Given the description of an element on the screen output the (x, y) to click on. 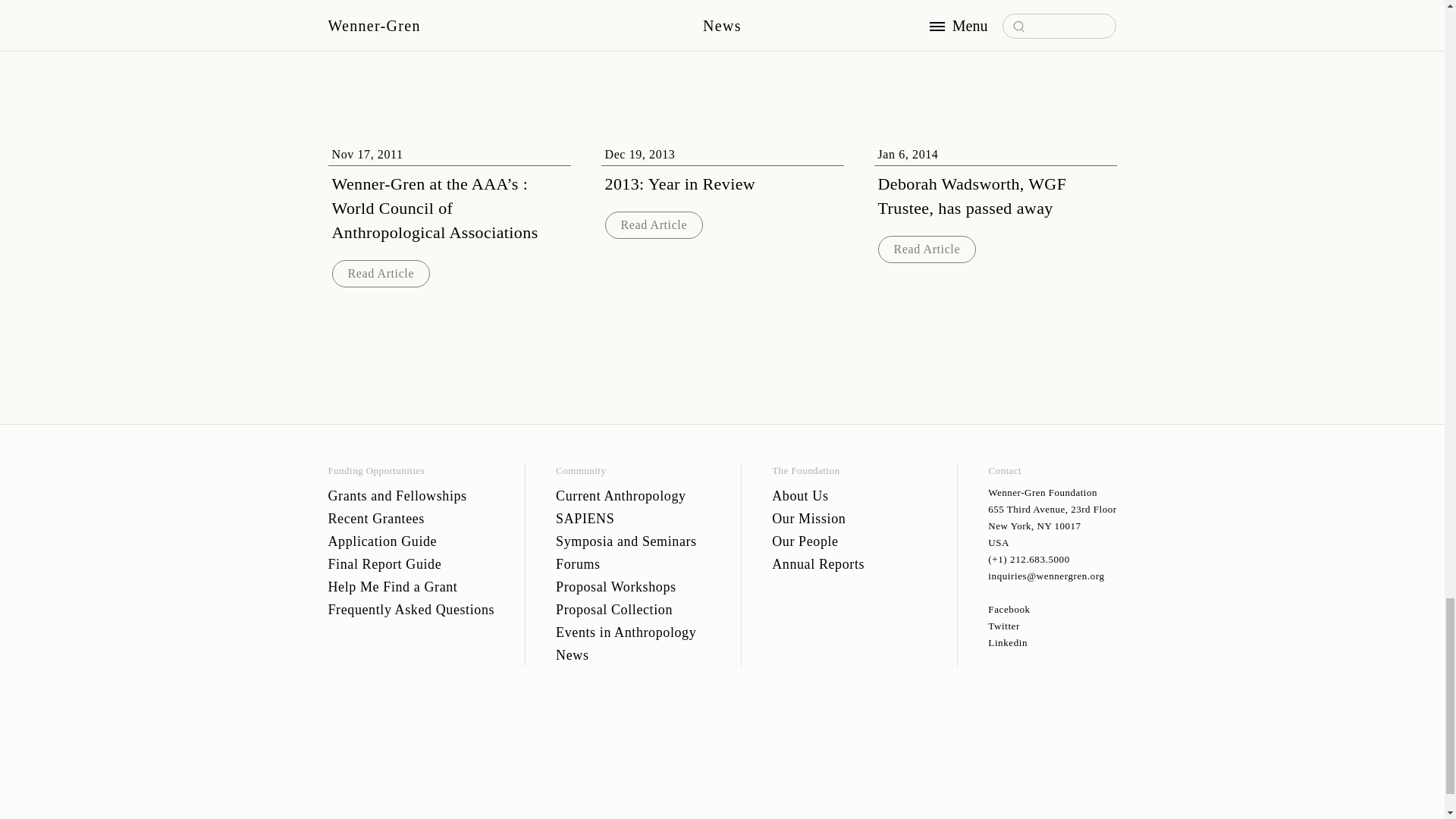
All Articles (721, 18)
Grants and Fellowships (411, 495)
Read Article (926, 248)
Read Article (380, 272)
Read Article (654, 224)
facebook (1052, 609)
twitter (1052, 626)
Recent Grantees (411, 517)
linkedin (1052, 642)
